Given the description of an element on the screen output the (x, y) to click on. 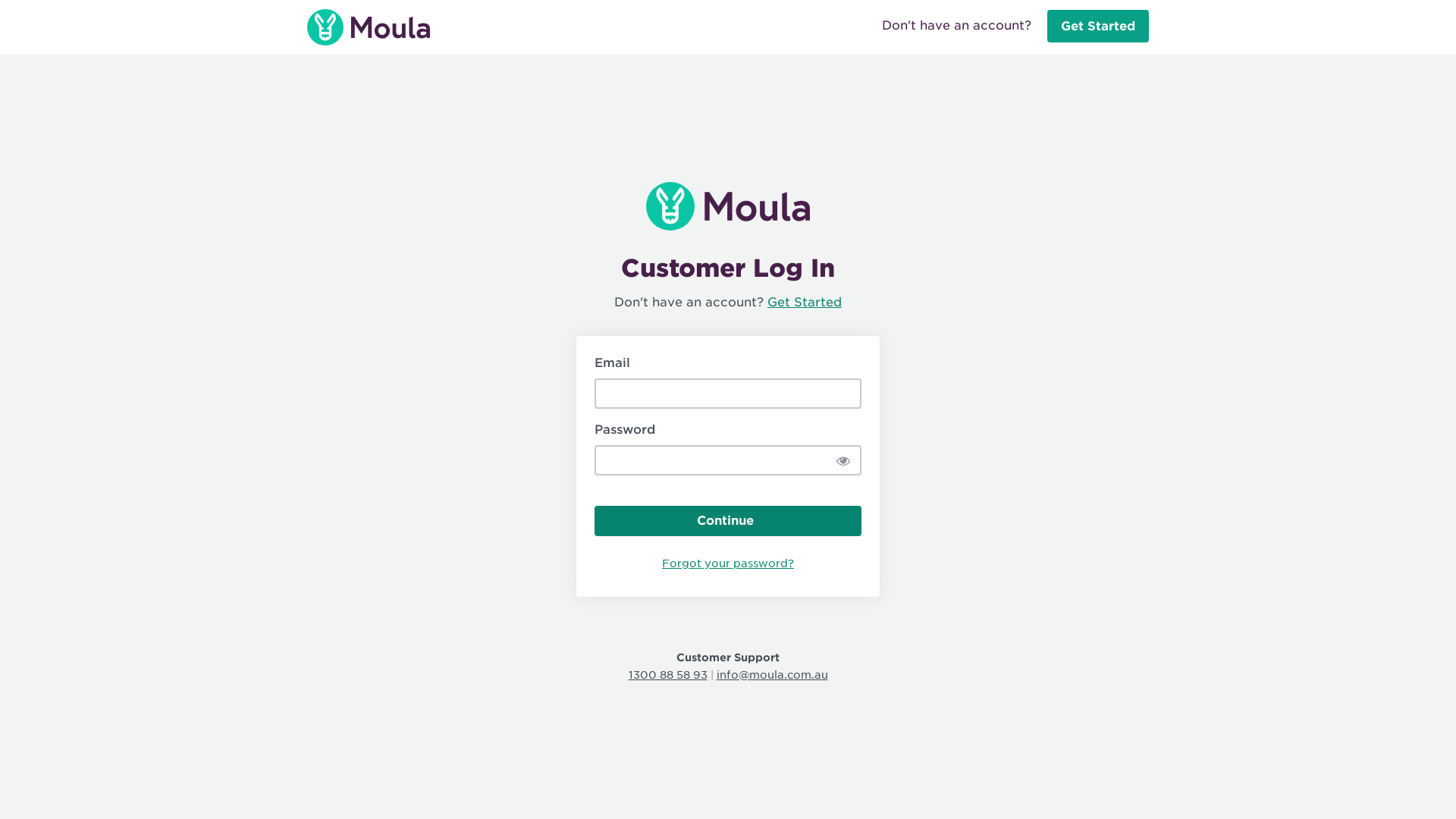
info@moula.com.au Element type: text (771, 674)
1300 88 58 93 Element type: text (666, 674)
Get Started Element type: text (1097, 26)
Forgot your password? Element type: text (727, 567)
Continue Element type: text (727, 520)
Get Started Element type: text (804, 301)
